Given the description of an element on the screen output the (x, y) to click on. 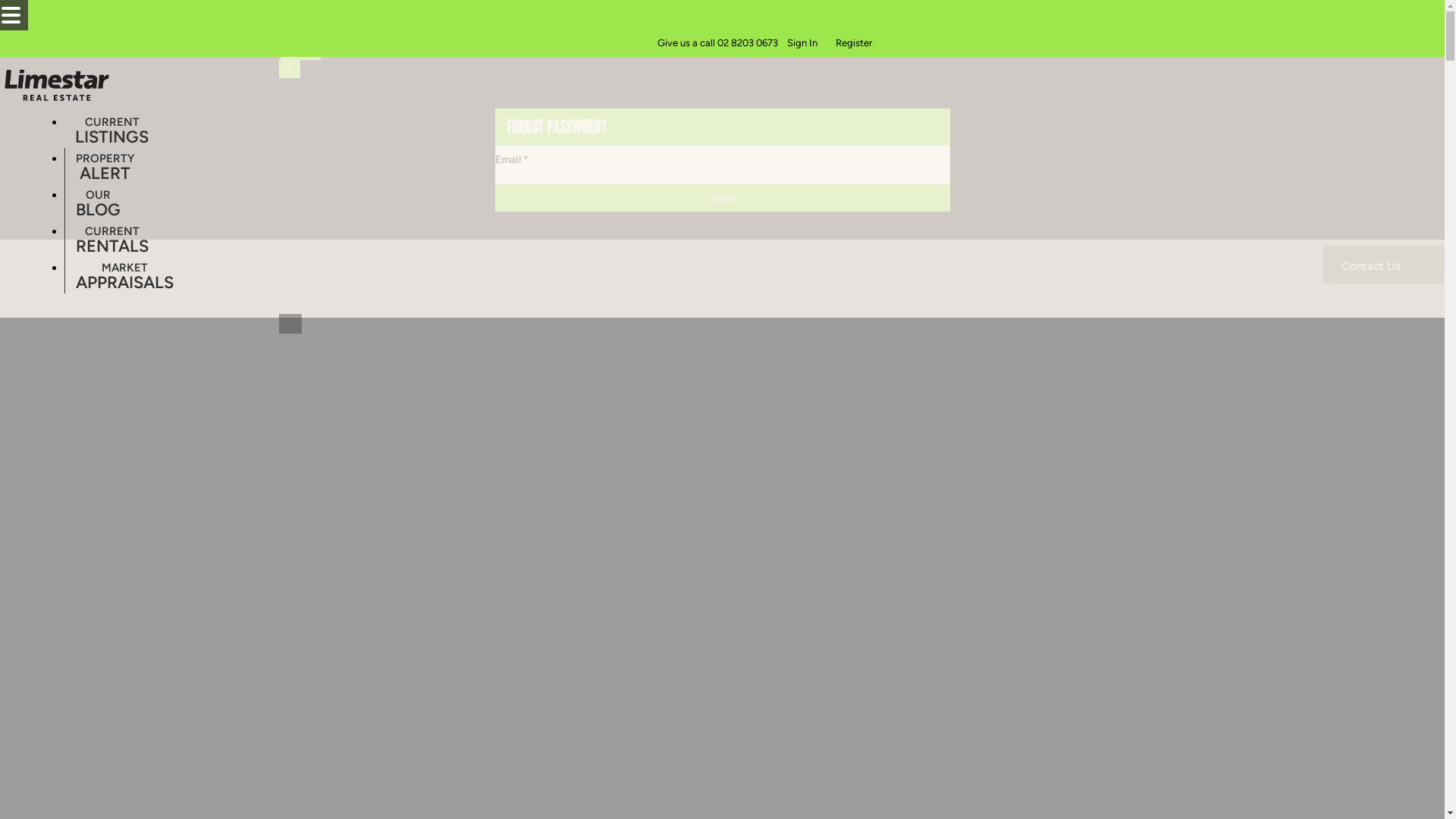
Email to Friend Element type: hover (9, 229)
Register Element type: text (853, 43)
Login Element type: text (300, 50)
Give us a call 02 8203 0673 Element type: text (717, 43)
Email to Agent Element type: hover (7, 252)
Send Element type: text (721, 197)
Sign In Element type: text (802, 43)
PROPERTY
ALERT Element type: text (104, 165)
? Element type: text (289, 68)
Contact Us Element type: text (1383, 264)
images Element type: text (82, 363)
OUR
BLOG Element type: text (98, 202)
MARKET
APPRAISALS Element type: text (124, 275)
CURRENT
RENTALS Element type: text (112, 238)
CURRENT
LISTINGS Element type: text (111, 129)
map Element type: text (75, 378)
